Given the description of an element on the screen output the (x, y) to click on. 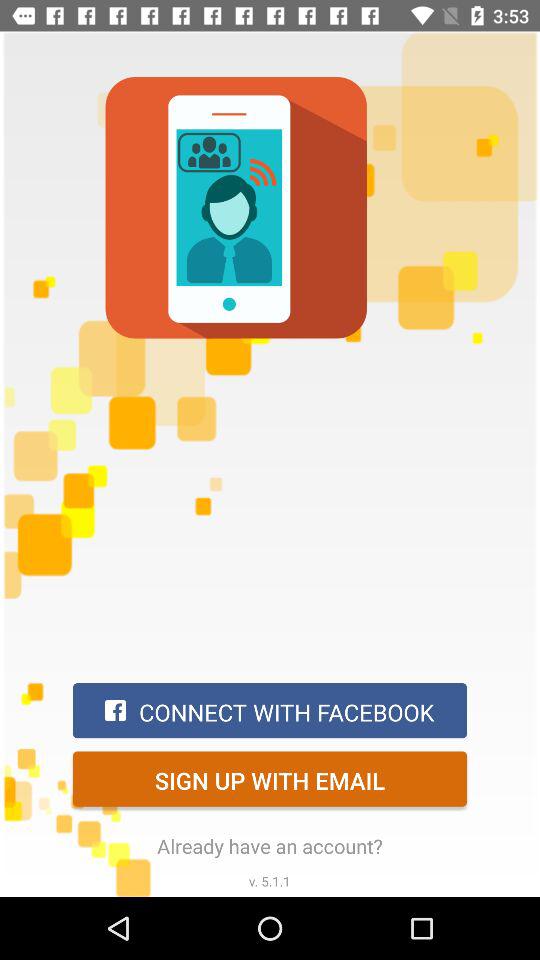
scroll to already have an item (270, 845)
